Given the description of an element on the screen output the (x, y) to click on. 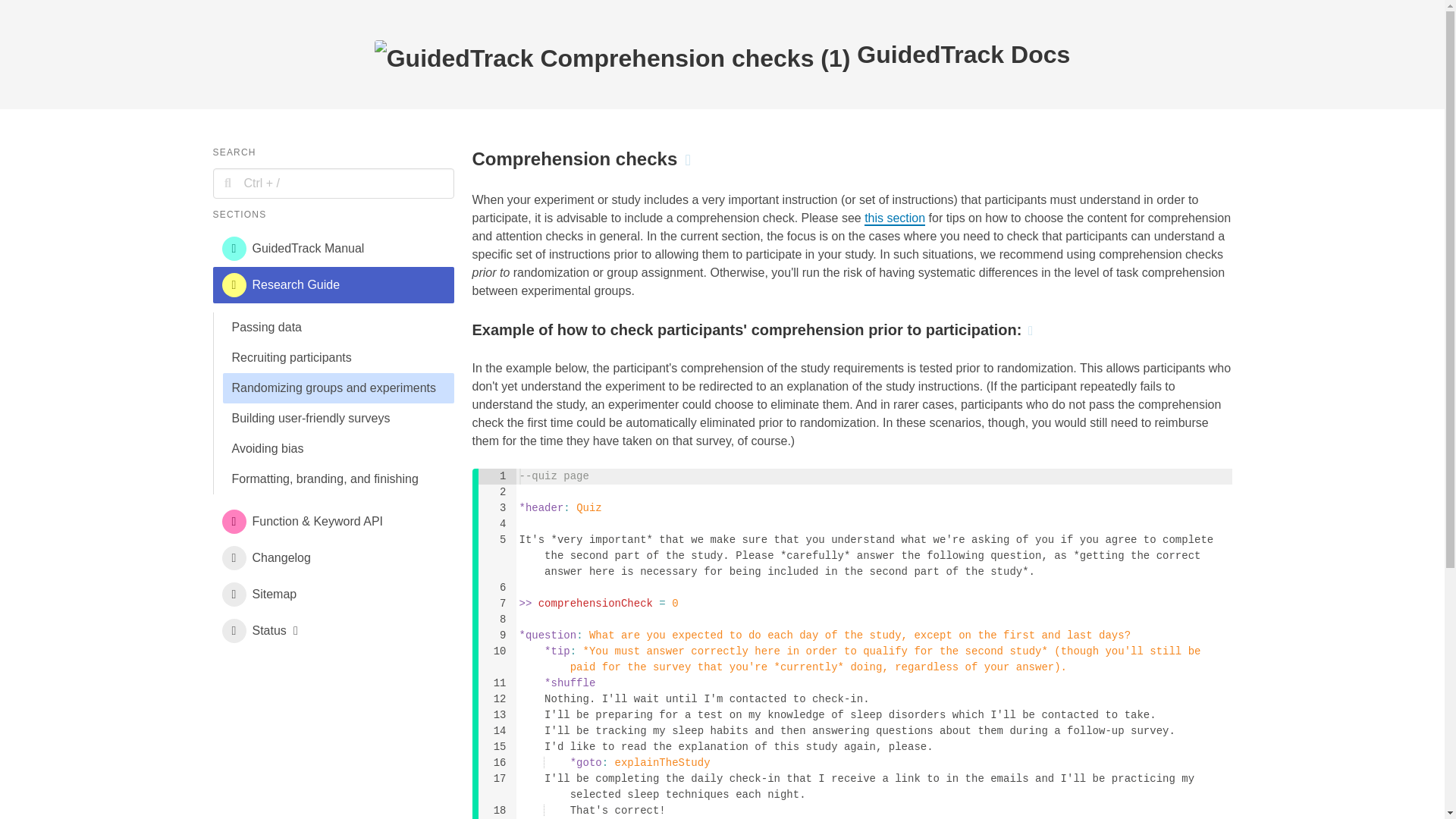
Formatting, branding, and finishing (338, 479)
Status (332, 630)
GuidedTrack Manual (332, 248)
Recruiting participants (338, 358)
Passing data (338, 327)
Changelog (332, 557)
GuidedTrack Docs (721, 54)
Building user-friendly surveys (338, 418)
Avoiding bias (338, 449)
this section (894, 218)
Sitemap (332, 594)
Randomizing groups and experiments (338, 388)
Research Guide (332, 284)
